Given the description of an element on the screen output the (x, y) to click on. 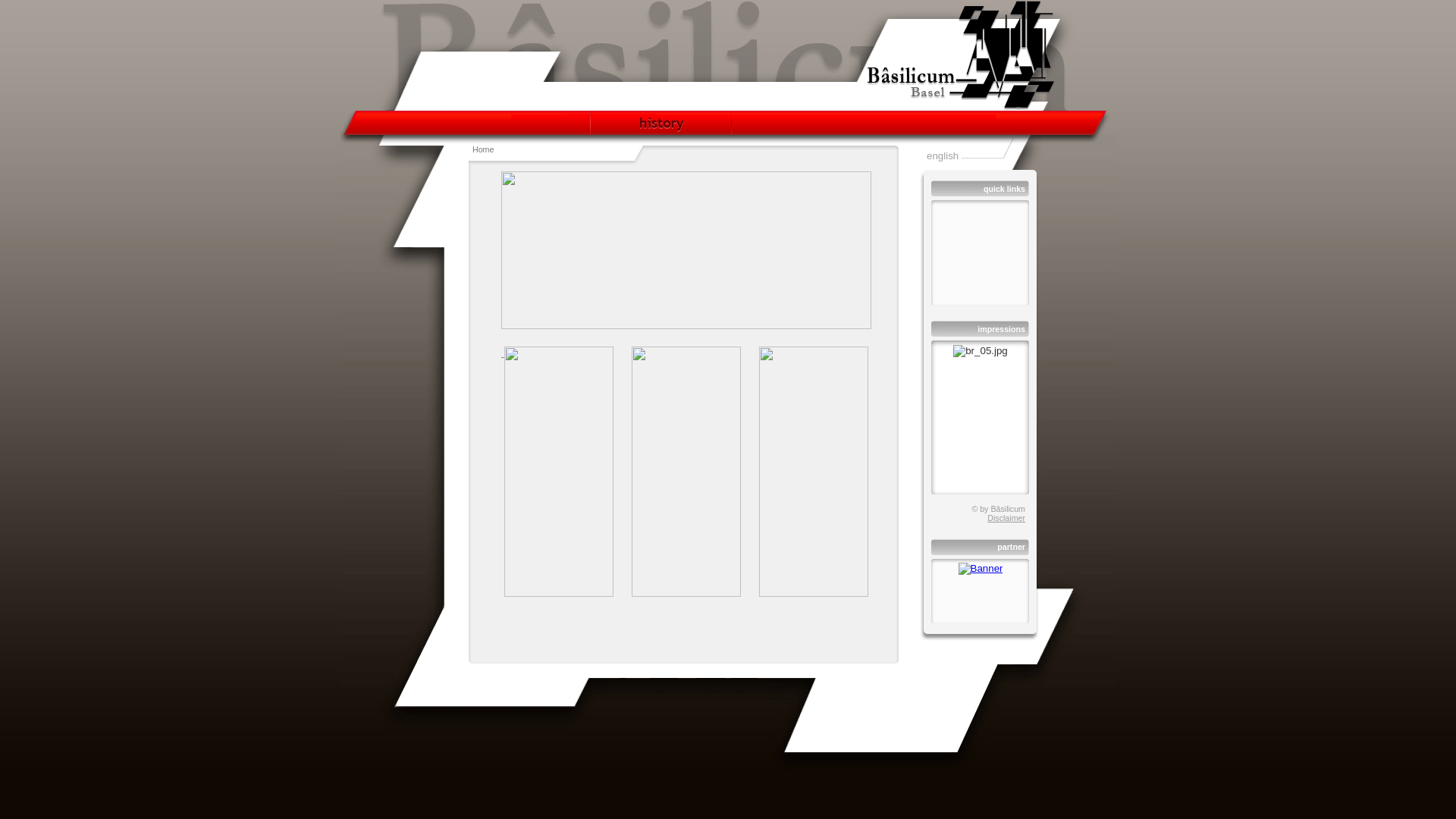
  Element type: text (557, 352)
Disclaimer Element type: text (1006, 517)
english Element type: text (942, 155)
